Given the description of an element on the screen output the (x, y) to click on. 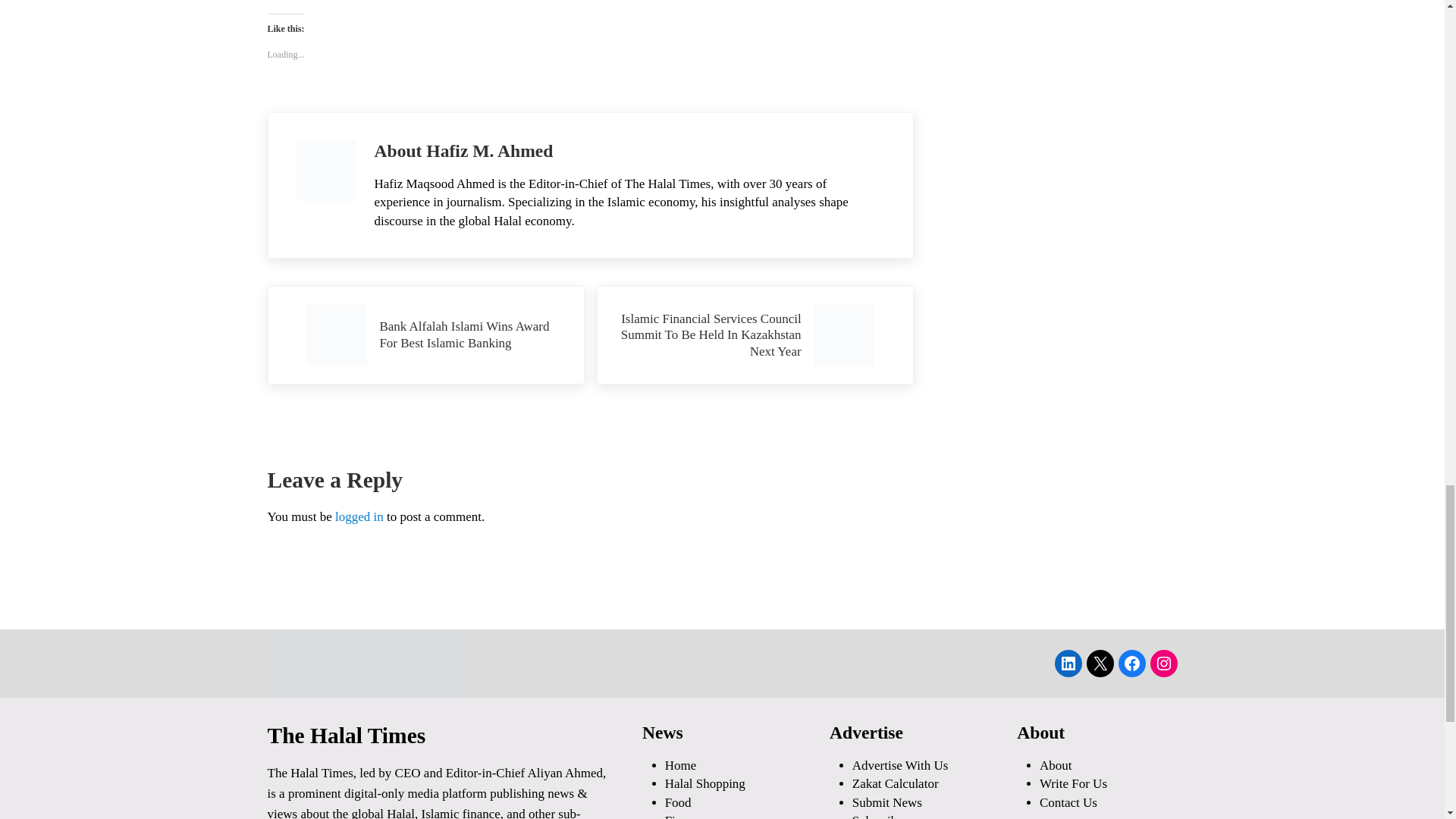
Facebook (1131, 663)
X (1099, 663)
LinkedIn (1067, 663)
Instagram (1163, 663)
logged in (359, 516)
